Given the description of an element on the screen output the (x, y) to click on. 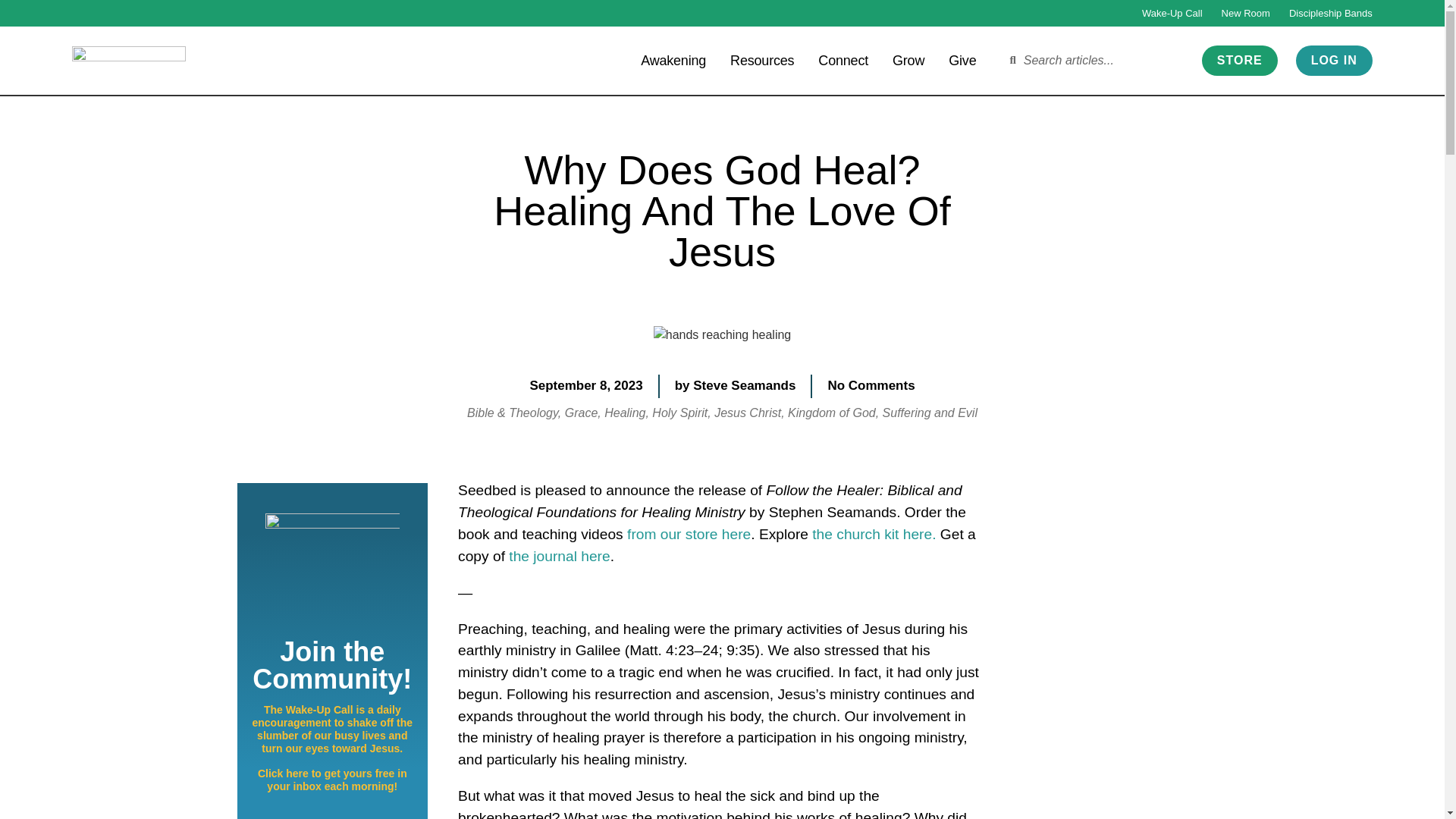
Awakening (673, 59)
Connect (842, 59)
Resources (761, 59)
New Room (1245, 13)
Grow (908, 59)
Discipleship Bands (1330, 13)
Wake-Up Call (1171, 13)
hands reaching healing (721, 334)
